Given the description of an element on the screen output the (x, y) to click on. 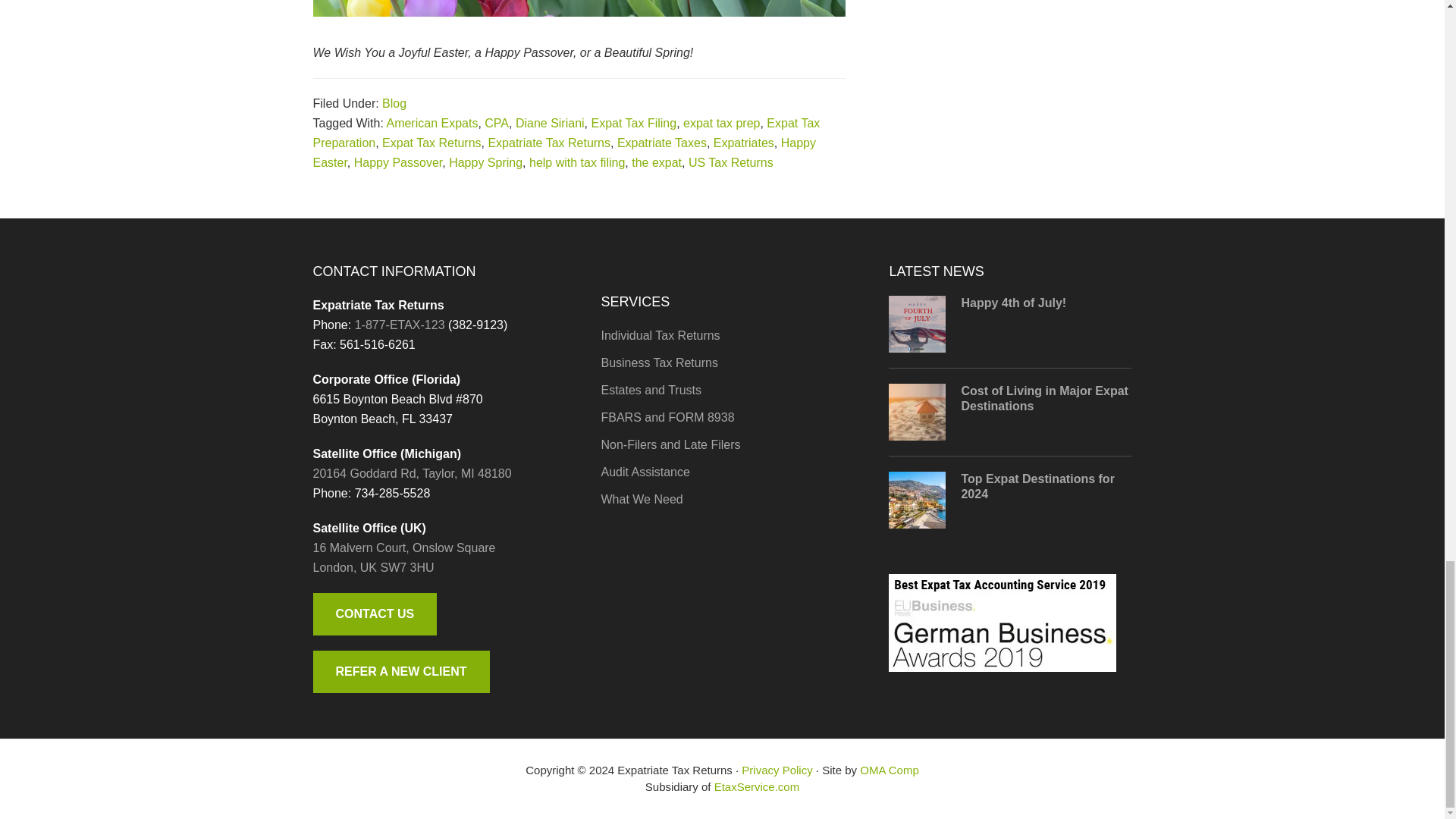
OMA Comp (889, 769)
